Given the description of an element on the screen output the (x, y) to click on. 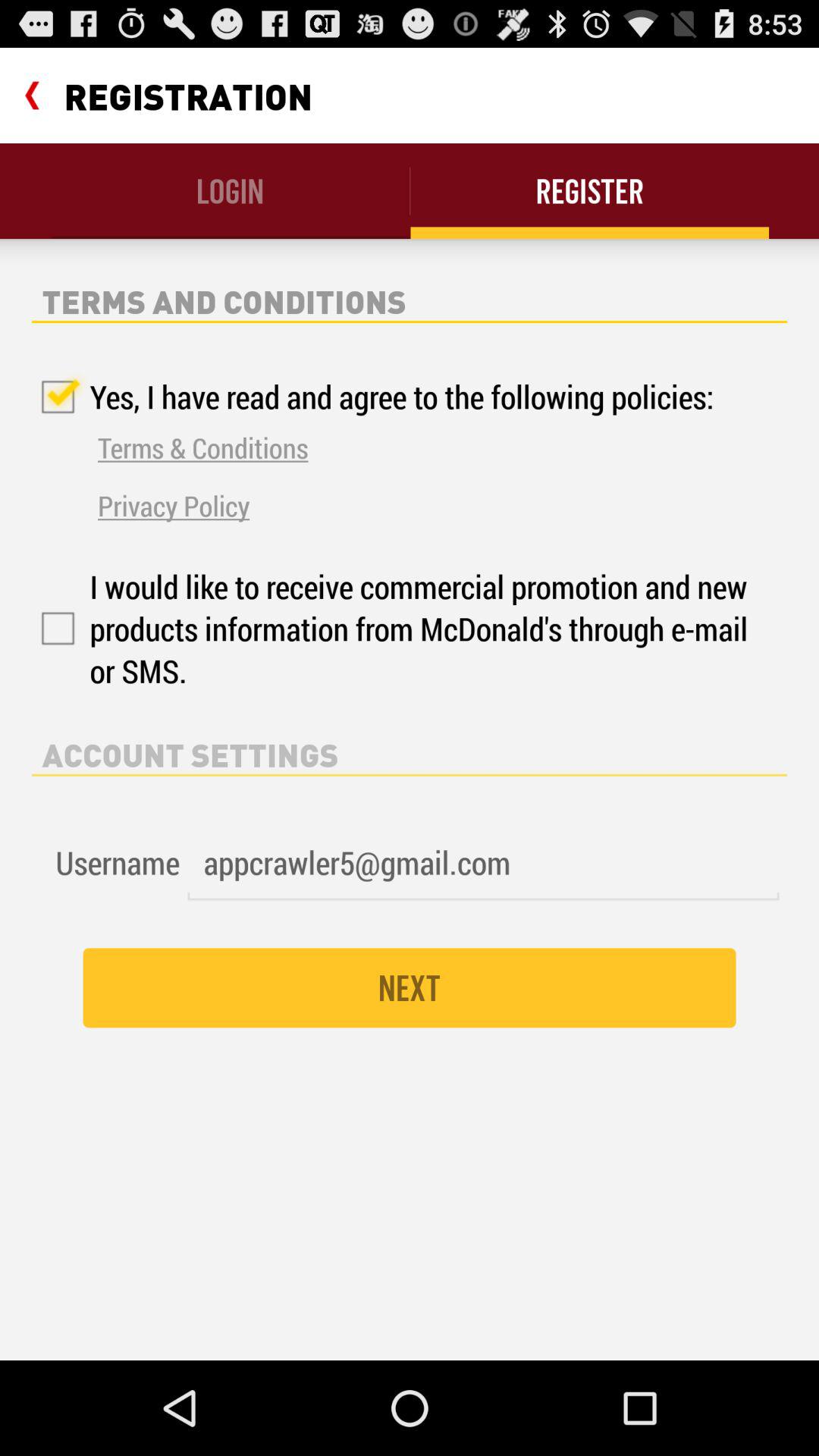
select item above account settings item (393, 628)
